Given the description of an element on the screen output the (x, y) to click on. 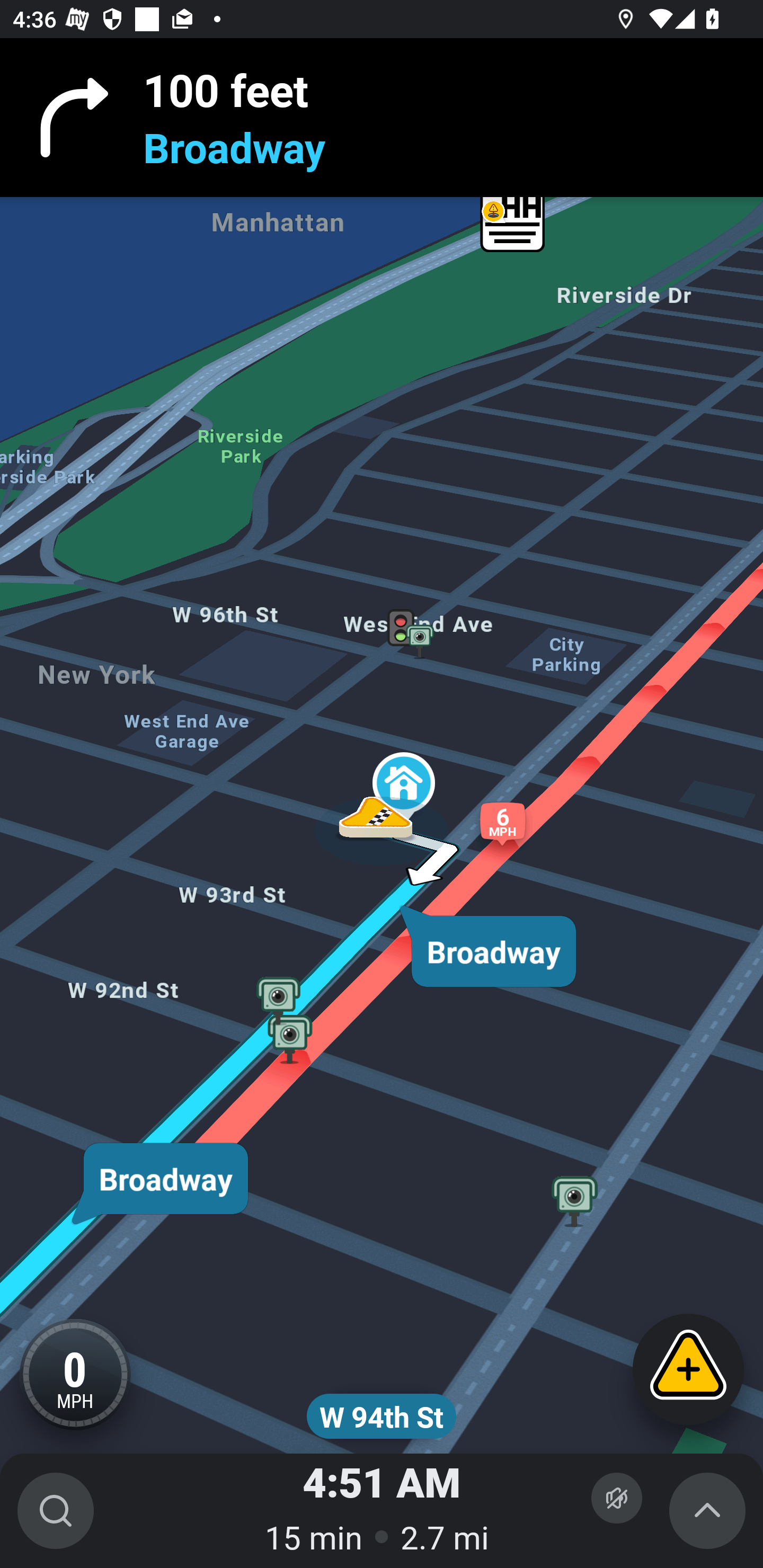
100 feet Broadway (381, 117)
4:51 AM 15 min 2.7 mi (381, 1510)
